Given the description of an element on the screen output the (x, y) to click on. 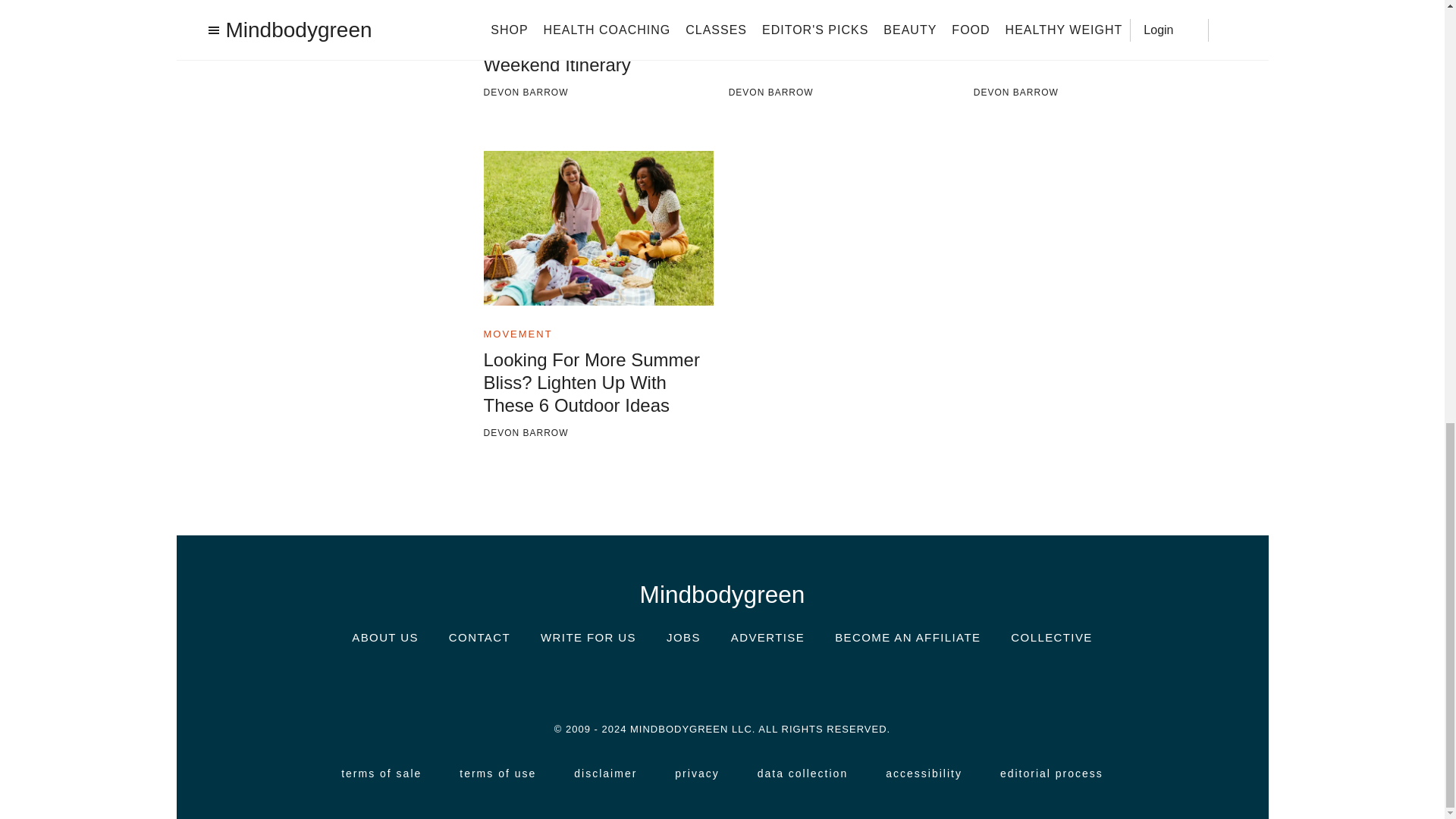
Twitter (721, 681)
YouTube (812, 681)
Pinterest (767, 681)
CONTACT (479, 636)
Instagram (630, 680)
DEVON BARROW (844, 92)
ADVERTISE (767, 636)
COLLECTIVE (1051, 636)
